Given the description of an element on the screen output the (x, y) to click on. 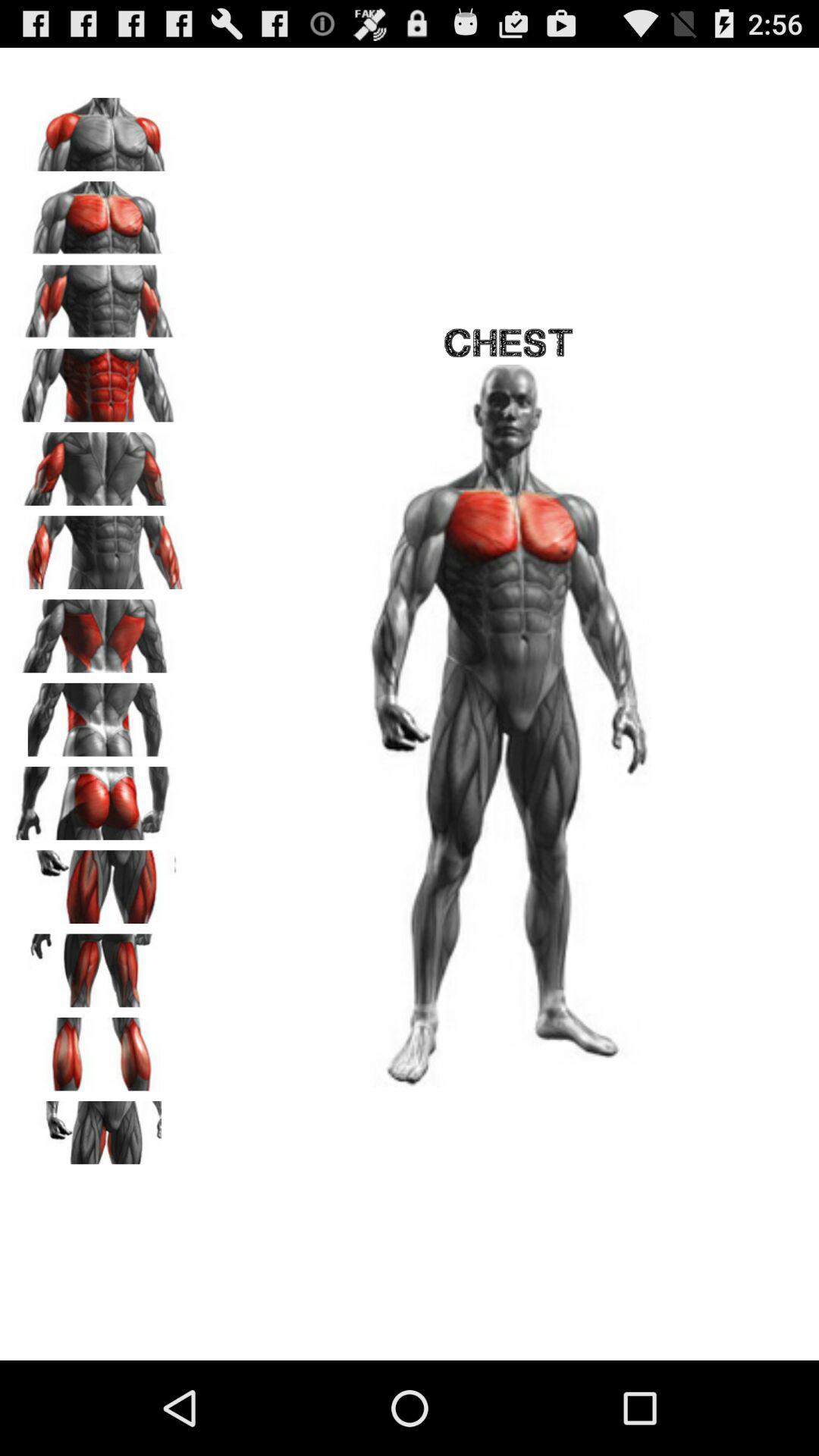
show hamstrings (99, 965)
